Given the description of an element on the screen output the (x, y) to click on. 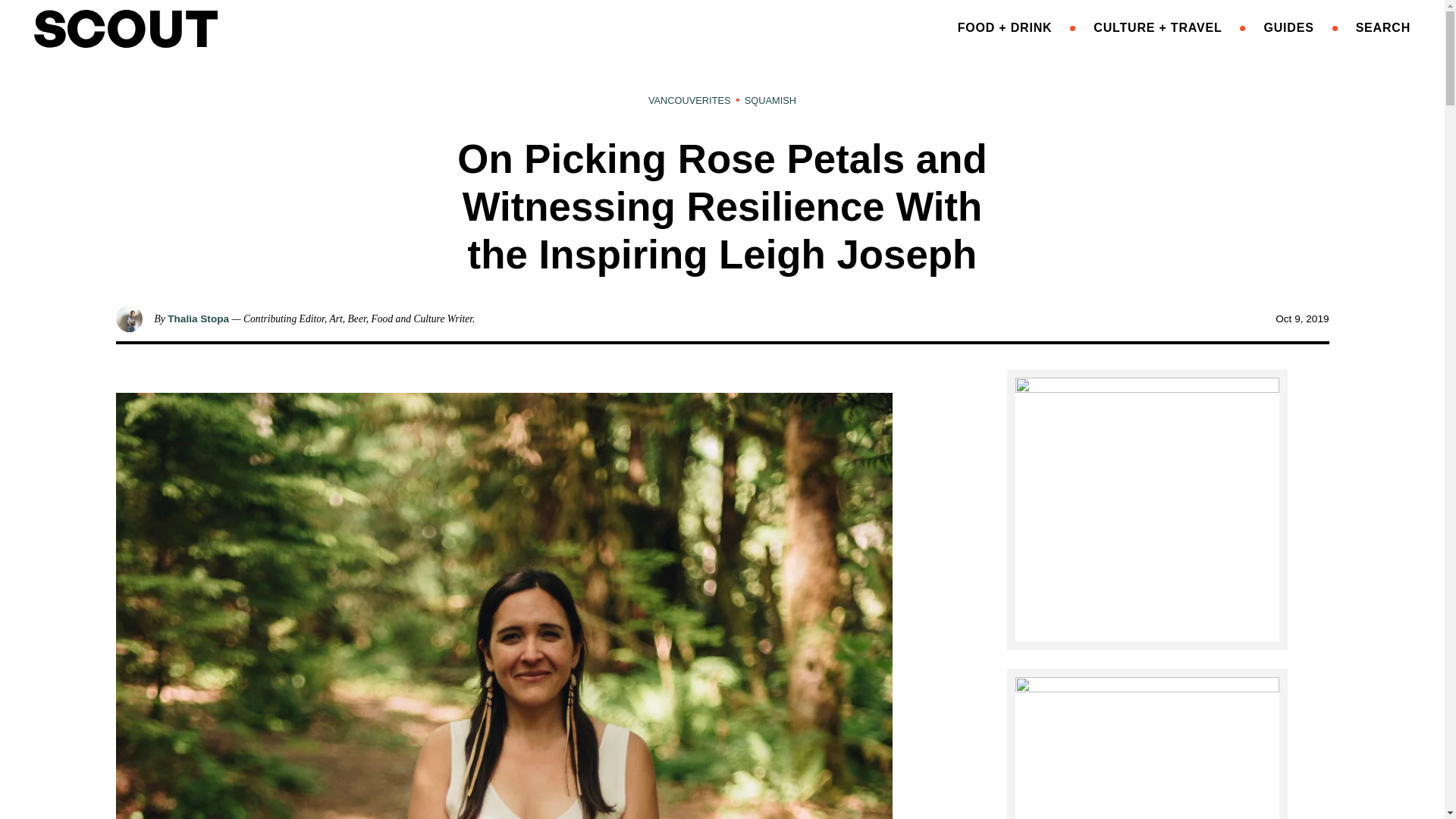
SQUAMISH (770, 100)
VANCOUVERITES (688, 100)
2019-10-09T11:02:34-07:00 (1301, 318)
SEARCH (1382, 27)
GUIDES (1288, 27)
Thalia Stopa (197, 318)
